Given the description of an element on the screen output the (x, y) to click on. 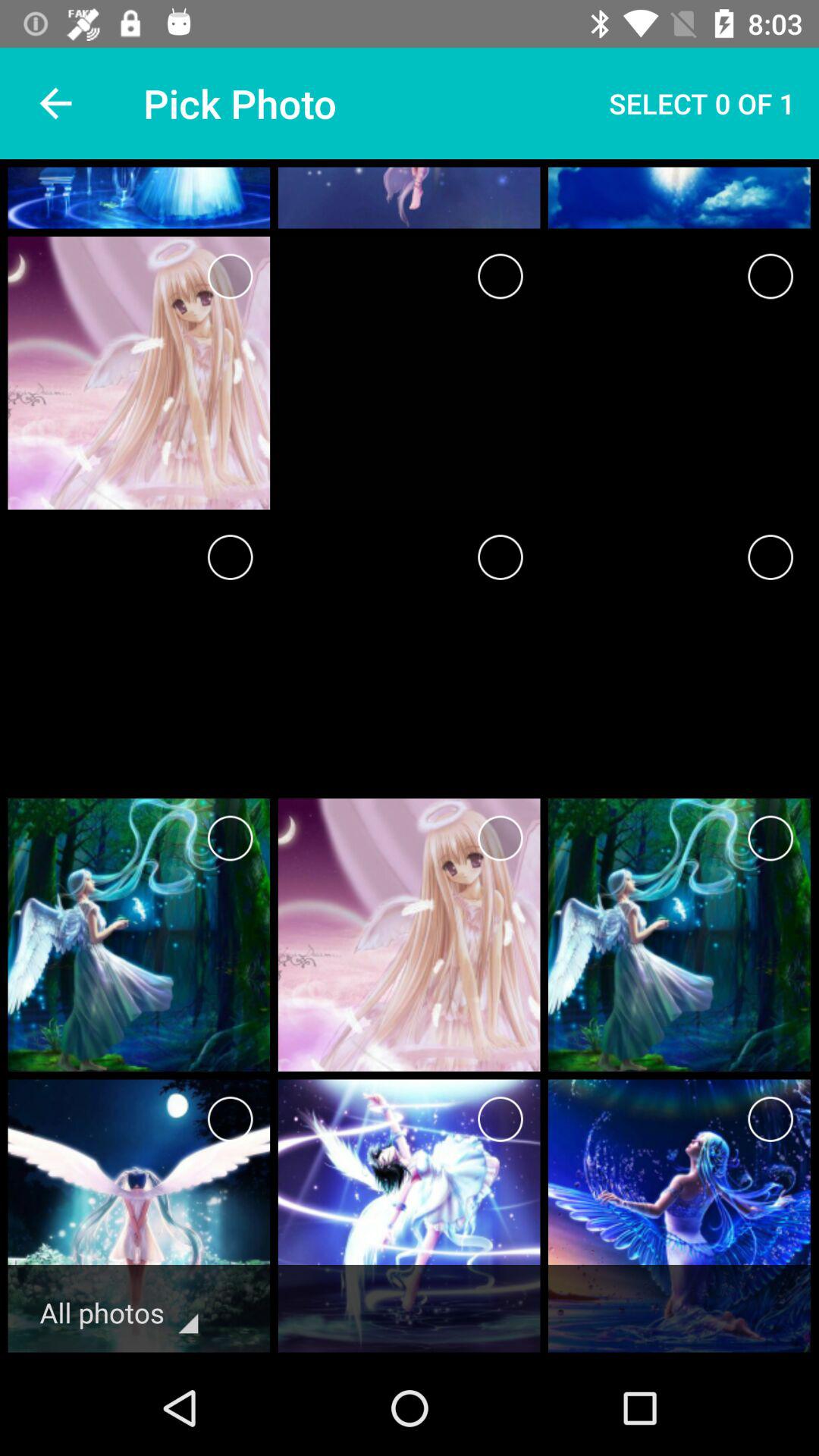
include picture (230, 276)
